Given the description of an element on the screen output the (x, y) to click on. 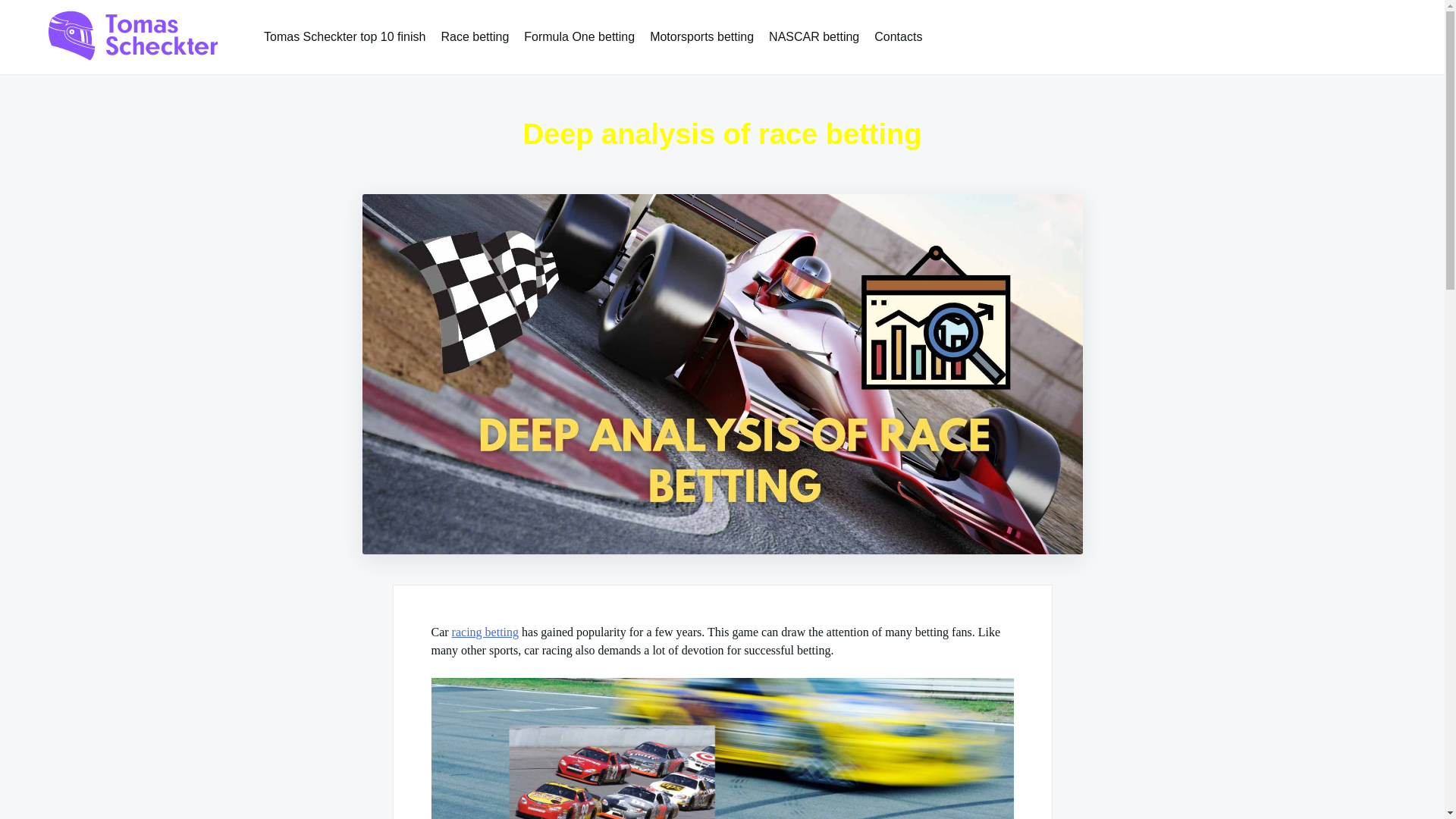
Motorsports betting (701, 36)
Tomas Scheckter top 10 finish (344, 36)
Contacts (898, 36)
Race betting (474, 36)
NASCAR betting (813, 36)
racing betting (484, 631)
Formula One betting (579, 36)
